Given the description of an element on the screen output the (x, y) to click on. 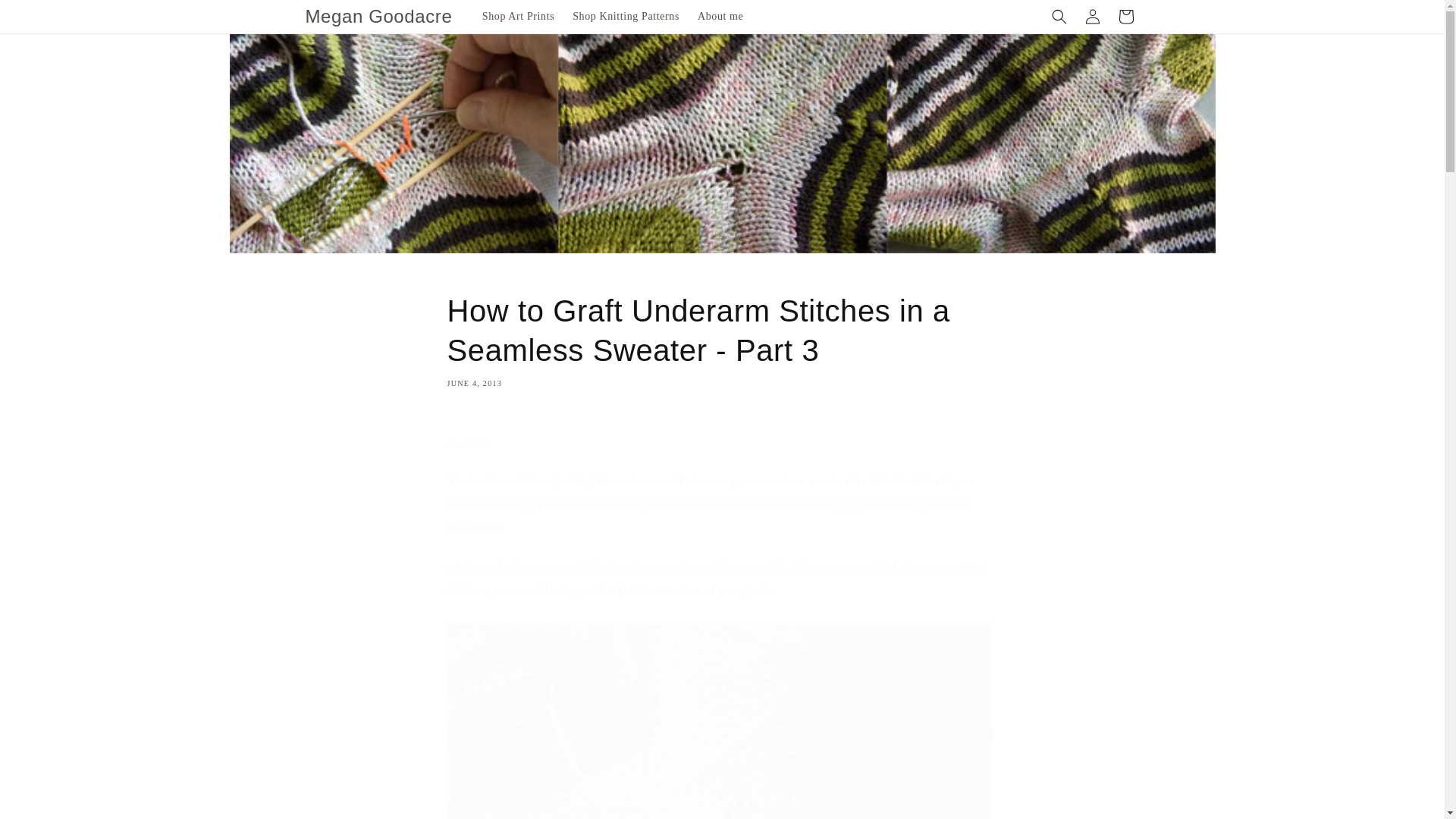
About me (720, 16)
Cart (1124, 16)
Megan Goodacre (378, 16)
Share (721, 442)
Skip to content (45, 17)
Log in (1091, 16)
Shop Art Prints (518, 16)
Shop Knitting Patterns (625, 16)
part 2 (534, 567)
